Given the description of an element on the screen output the (x, y) to click on. 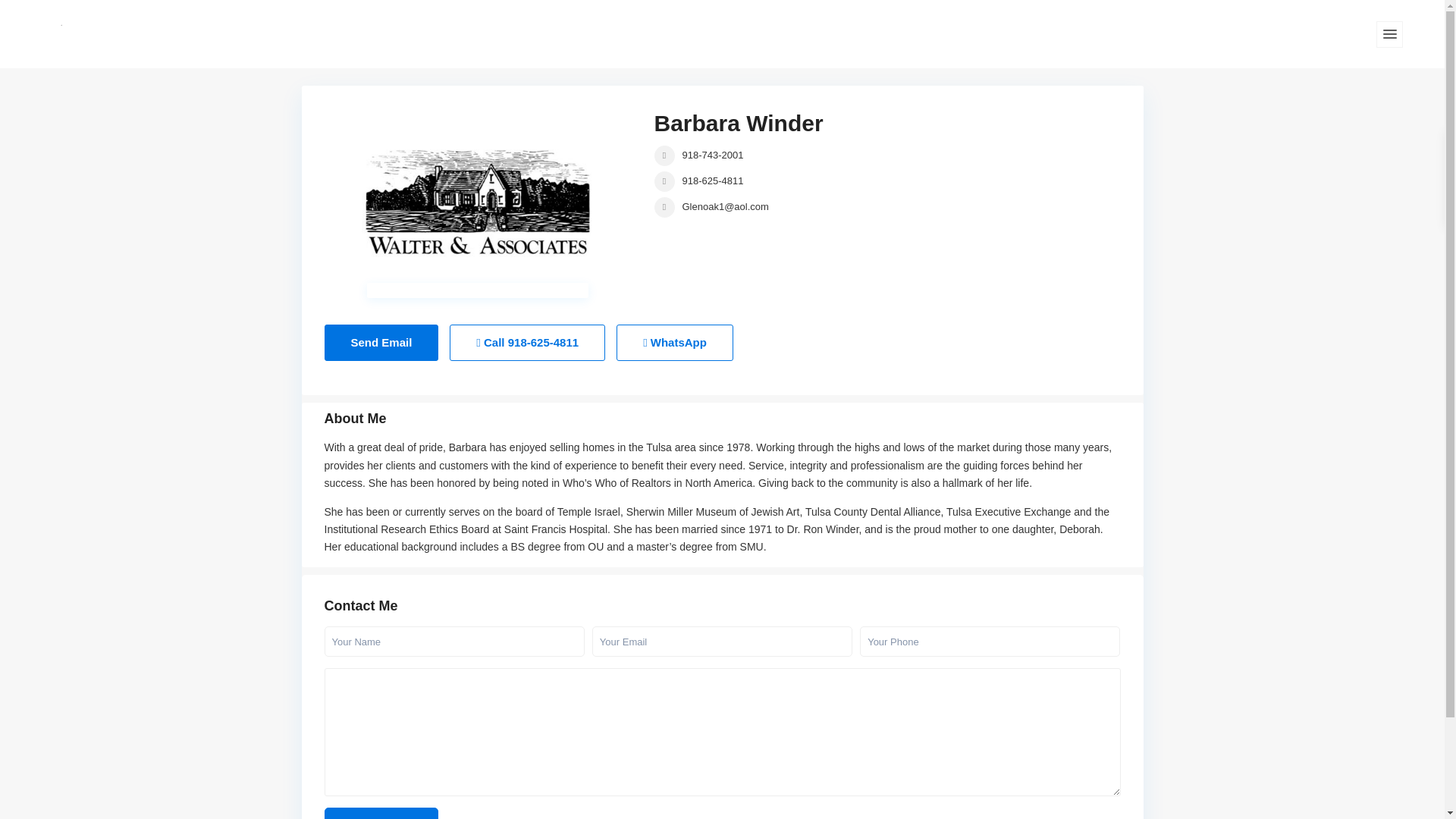
Barbara Winder (737, 122)
Call 918-625-4811 (527, 342)
918-743-2001 (713, 154)
918-625-4811 (713, 180)
WhatsApp (674, 342)
Send Email (381, 342)
Send Email (381, 813)
Send Email (381, 813)
Agile IT, LLC (776, 765)
Privacy Policy (828, 747)
